Given the description of an element on the screen output the (x, y) to click on. 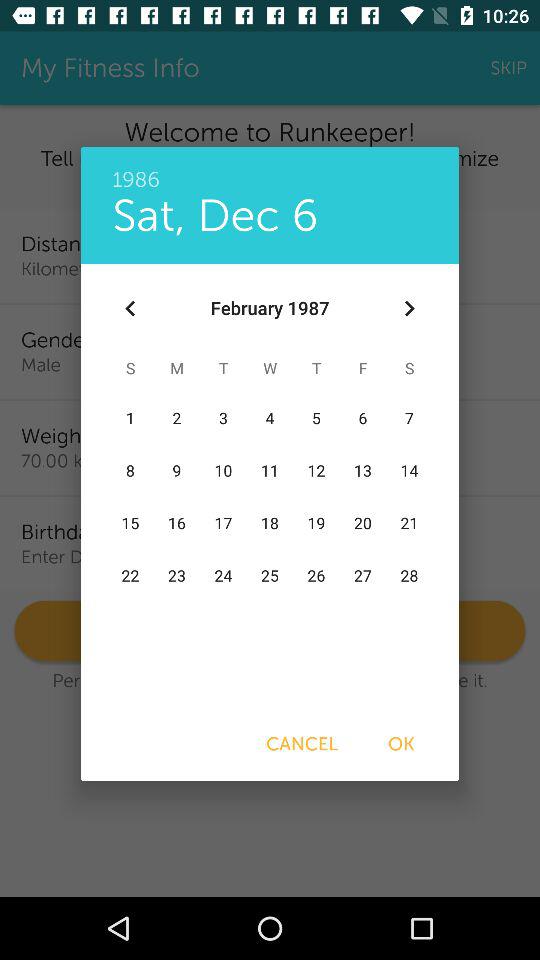
tap icon at the bottom (301, 743)
